Given the description of an element on the screen output the (x, y) to click on. 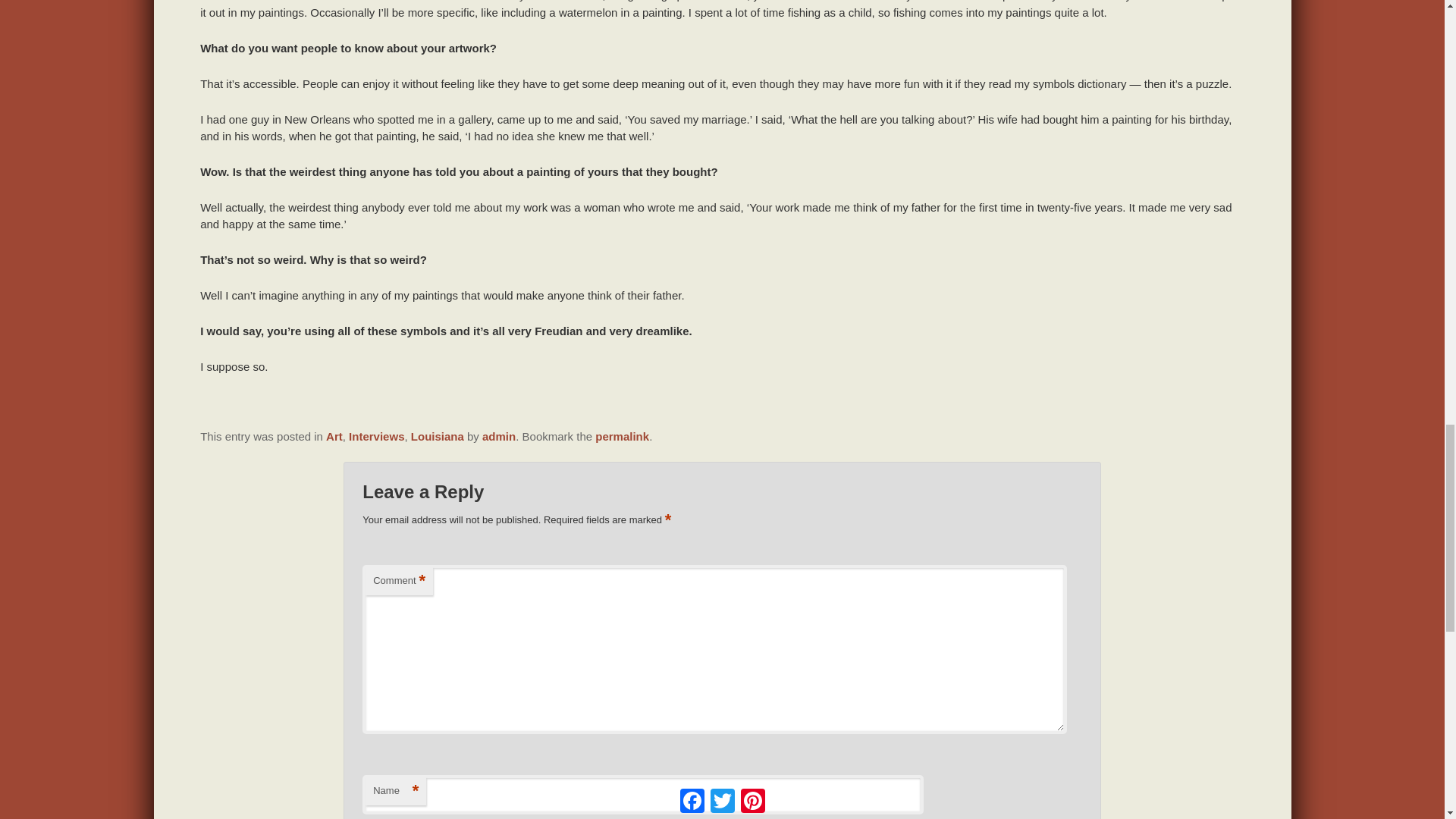
Permalink to An Interview With David Horton (622, 436)
